Given the description of an element on the screen output the (x, y) to click on. 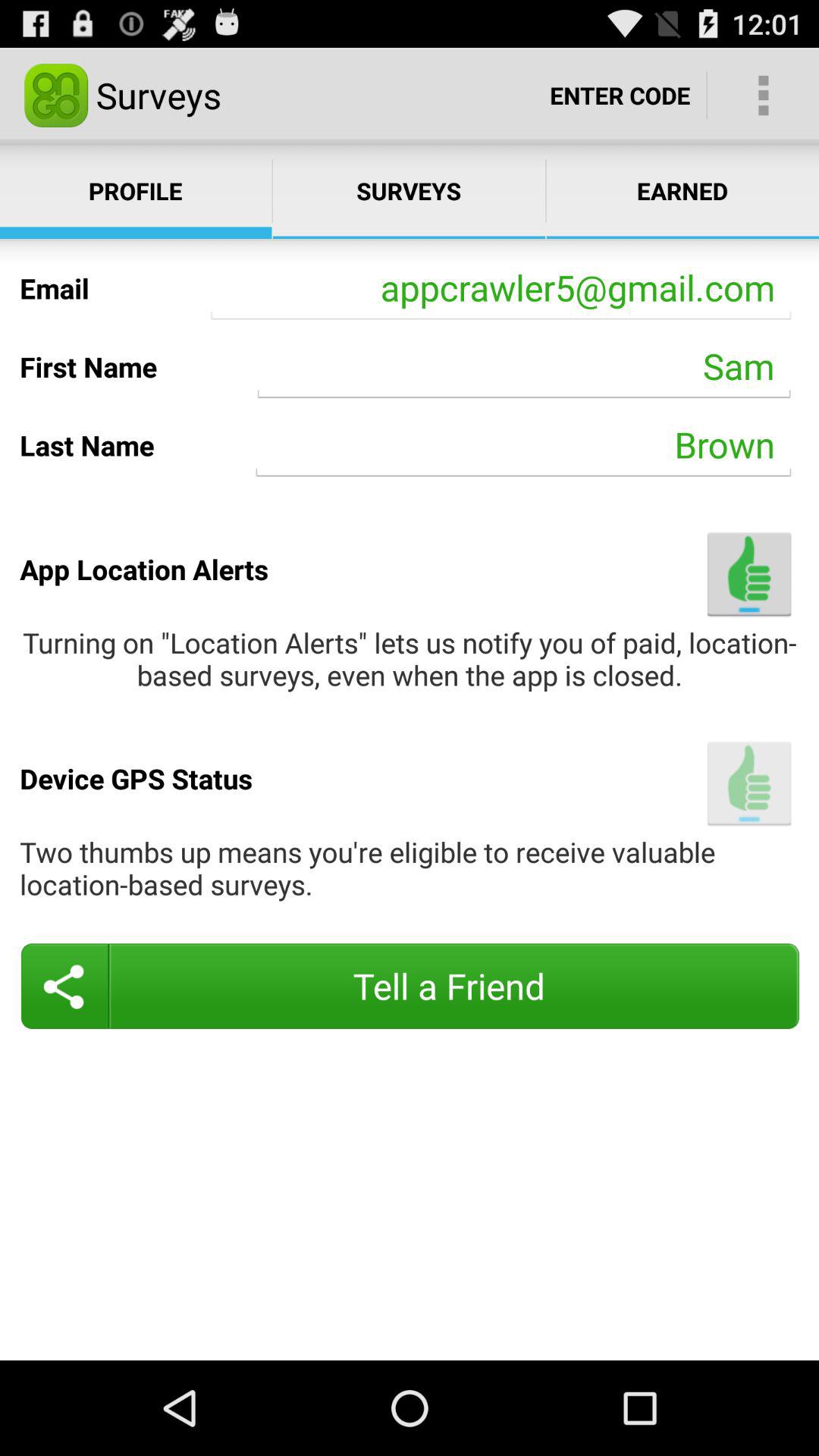
turn off the app to the right of the surveys item (620, 95)
